Given the description of an element on the screen output the (x, y) to click on. 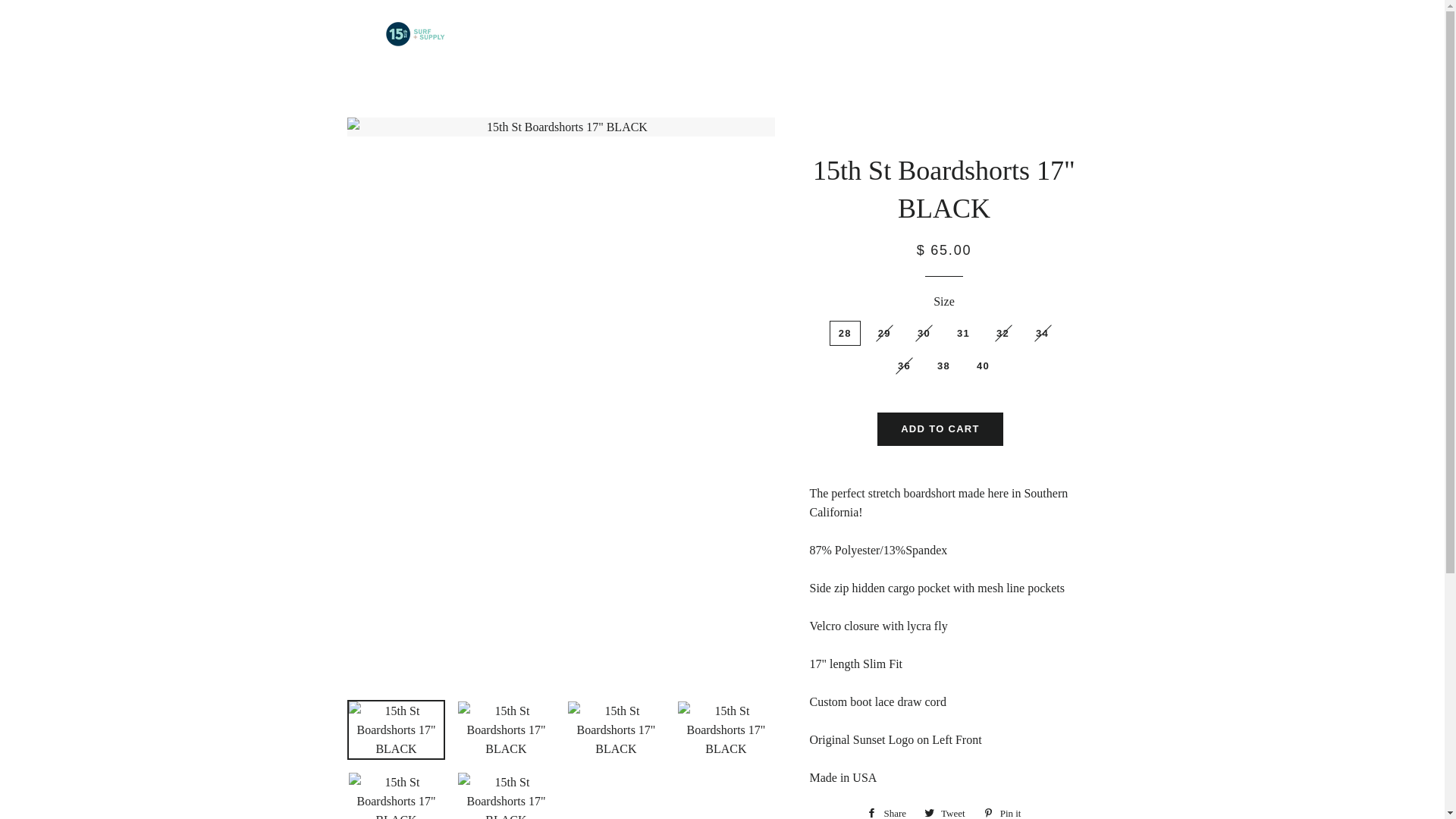
ADD TO CART Element type: text (940, 428)
